Given the description of an element on the screen output the (x, y) to click on. 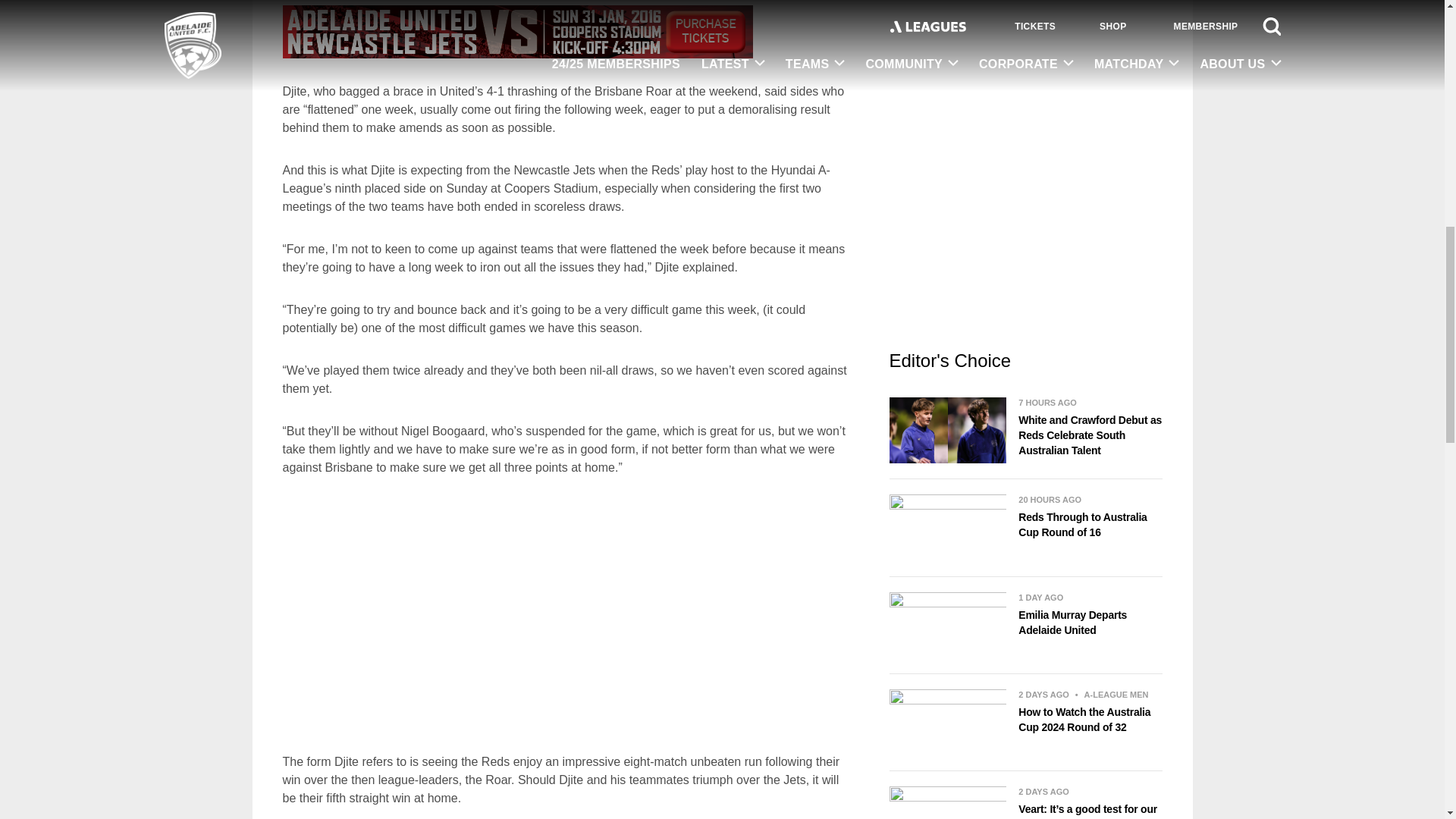
audioBoom player (547, 614)
